Given the description of an element on the screen output the (x, y) to click on. 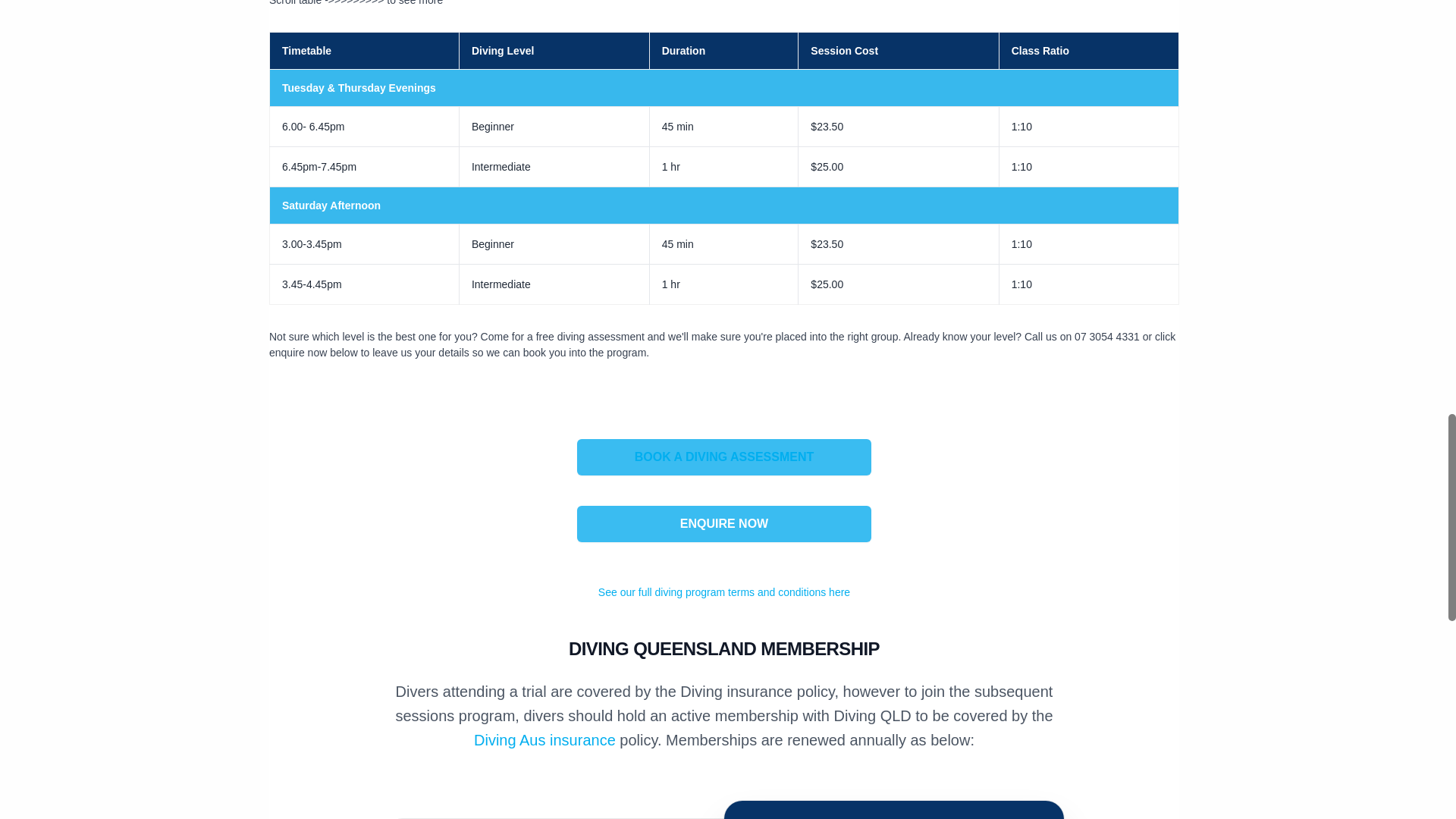
ENQUIRE NOW (723, 524)
Diving Aus insurance (544, 740)
See our full diving program terms and conditions here (724, 592)
BOOK A DIVING ASSESSMENT (723, 456)
BOOK A DIVING ASSESSMENT (723, 456)
